Given the description of an element on the screen output the (x, y) to click on. 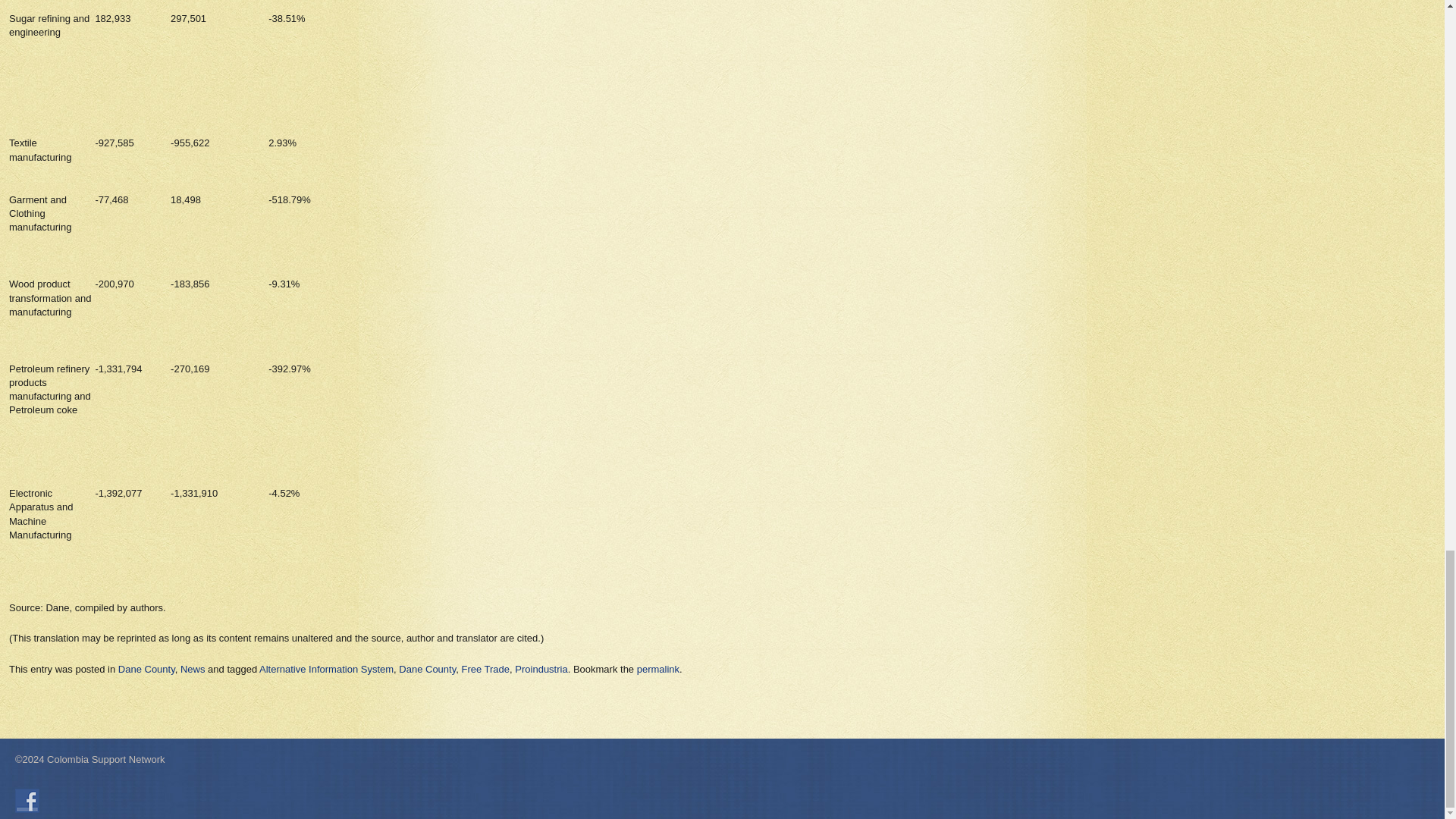
Dane County (426, 668)
Proindustria (541, 668)
Dane County (145, 668)
Follow Us on Facebook (26, 800)
Alternative Information System (326, 668)
permalink (658, 668)
Free Trade (485, 668)
News (192, 668)
